Given the description of an element on the screen output the (x, y) to click on. 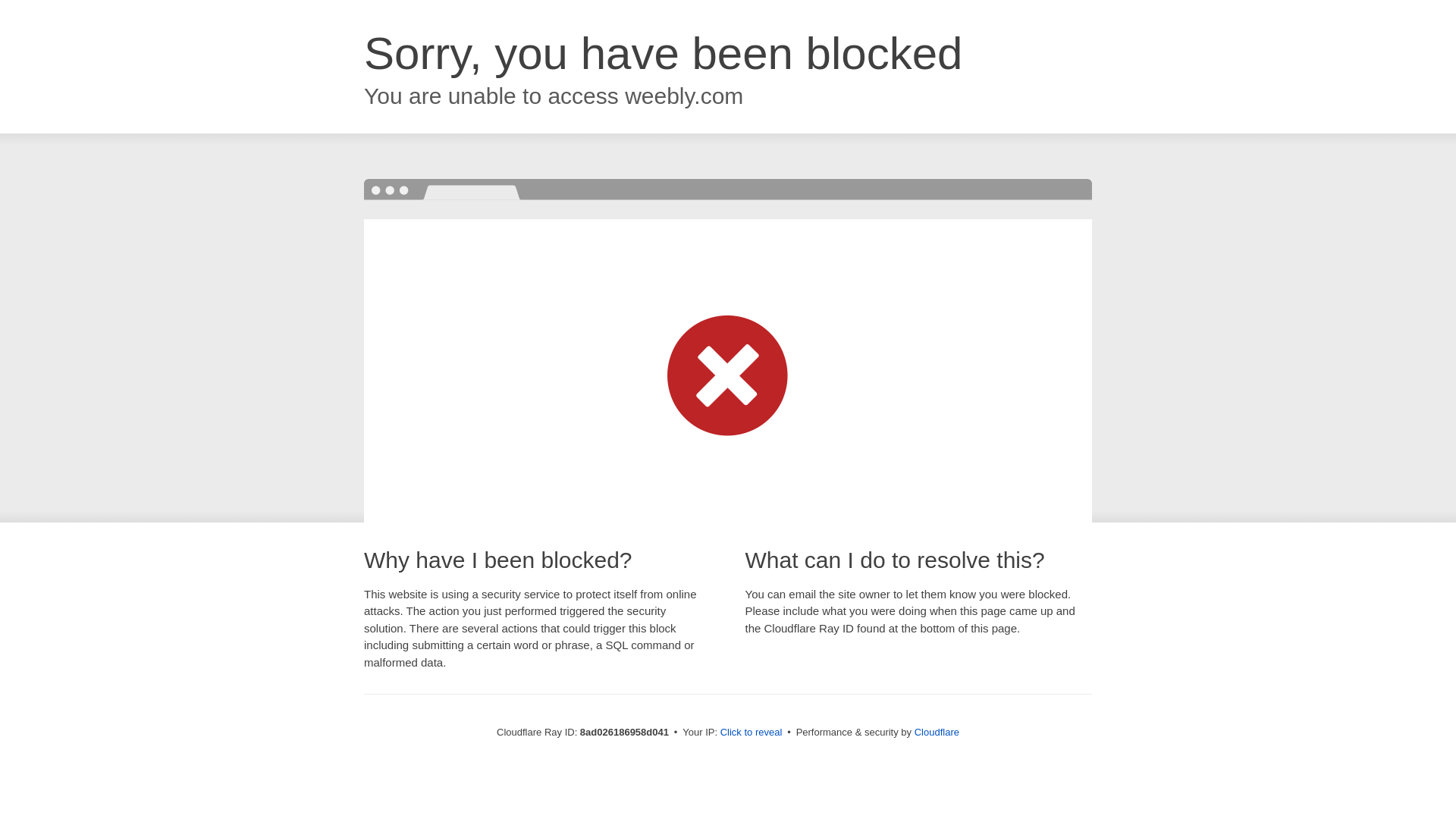
Click to reveal (751, 732)
Cloudflare (936, 731)
